Given the description of an element on the screen output the (x, y) to click on. 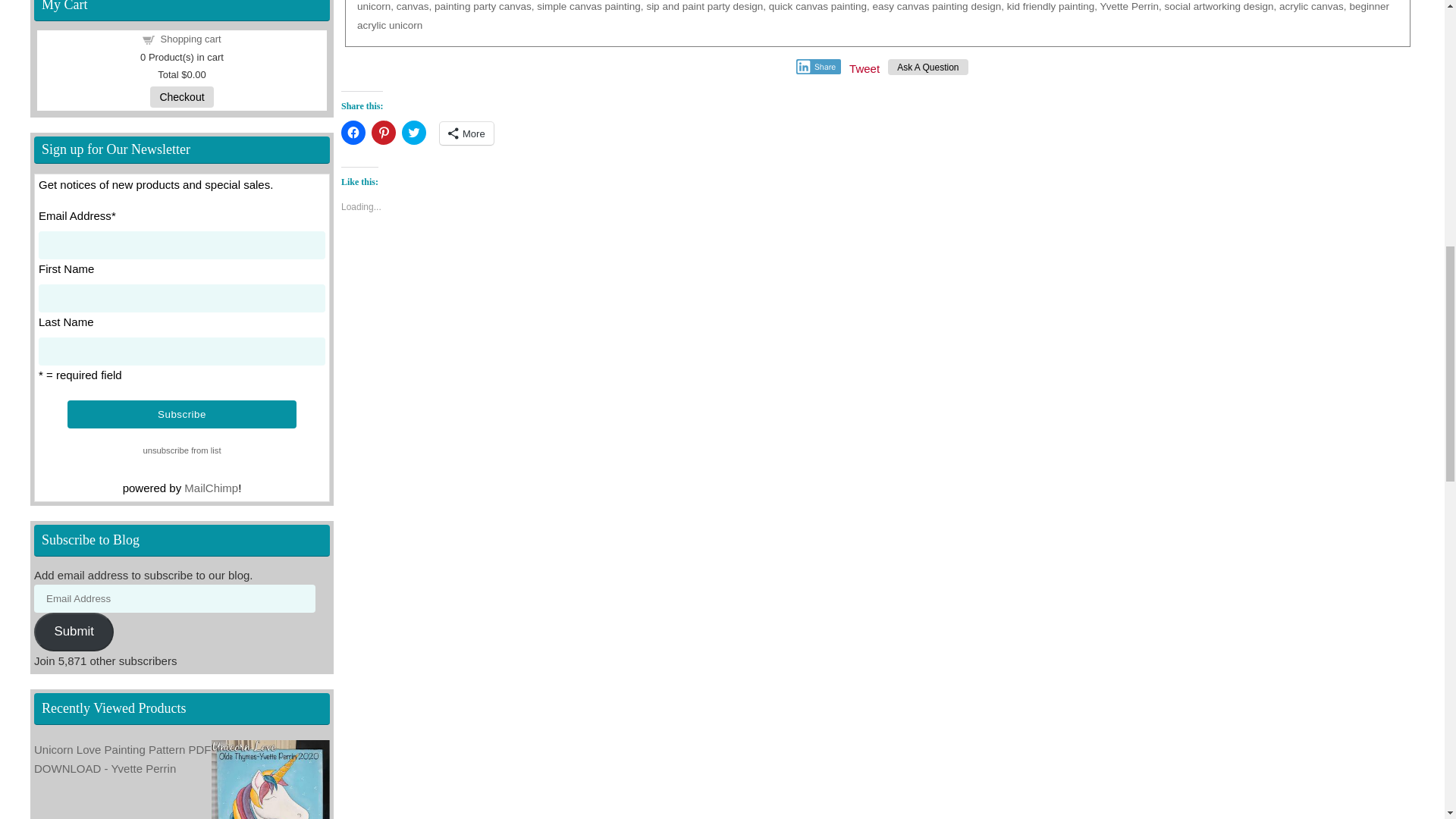
Ask A Question (928, 66)
Subscribe (181, 414)
Click to share on Facebook (352, 132)
Click to share on Twitter (413, 132)
Click to share on Pinterest (383, 132)
